Given the description of an element on the screen output the (x, y) to click on. 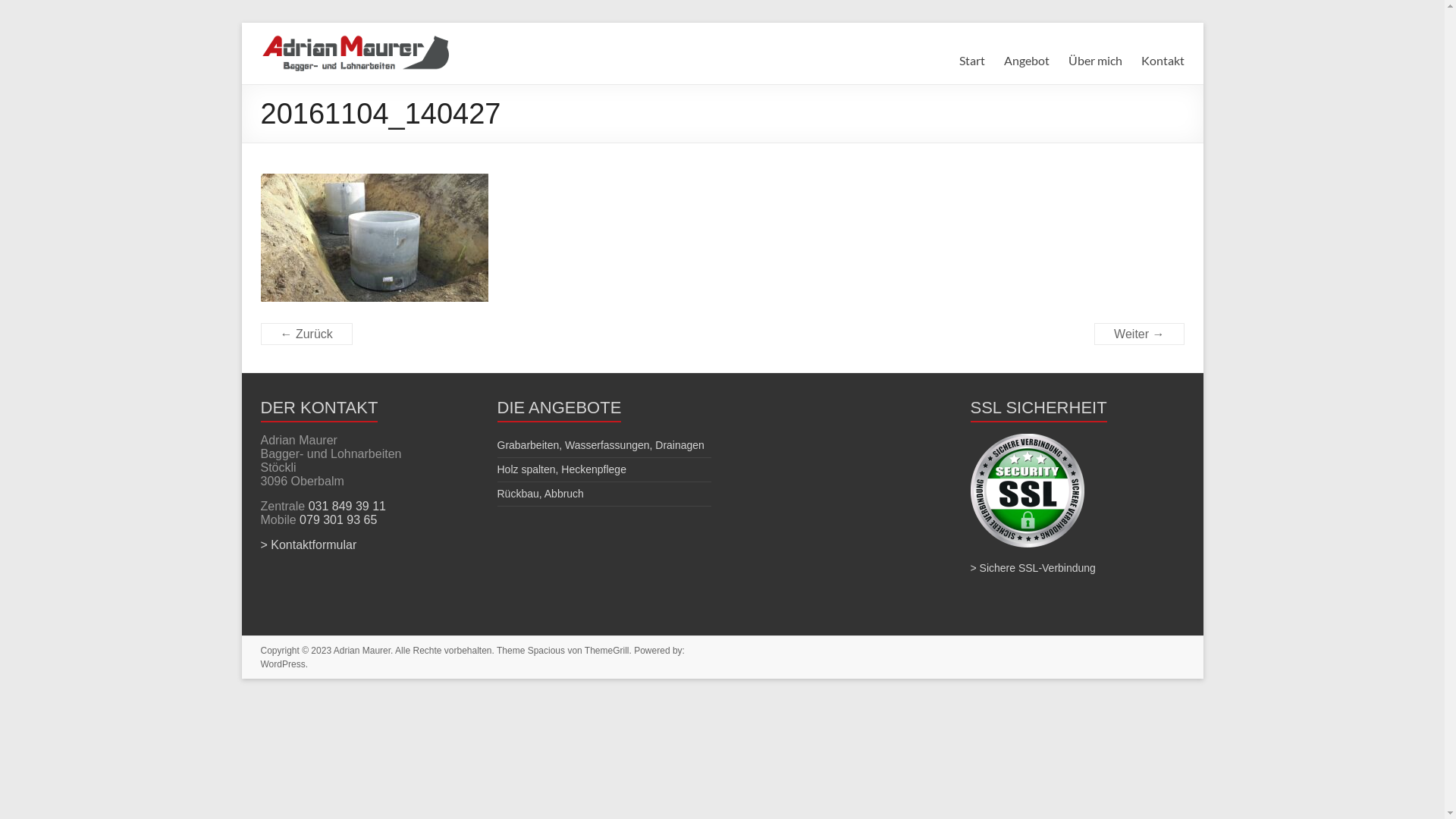
Spacious Element type: text (545, 650)
Holz spalten, Heckenpflege Element type: text (561, 469)
Start Element type: text (971, 60)
Angebot Element type: text (1026, 60)
> Sichere SSL-Verbindung Element type: text (1032, 567)
Adrian Maurer Element type: text (361, 650)
Zum Inhalt springen Element type: text (241, 21)
Adrian Maurer Element type: text (302, 68)
079 301 93 65 Element type: text (337, 519)
Kontakt Element type: text (1161, 60)
WordPress Element type: text (282, 663)
Grabarbeiten, Wasserfassungen, Drainagen Element type: text (600, 445)
> Kontaktformular Element type: text (308, 544)
031 849 39 11 Element type: text (346, 505)
